Given the description of an element on the screen output the (x, y) to click on. 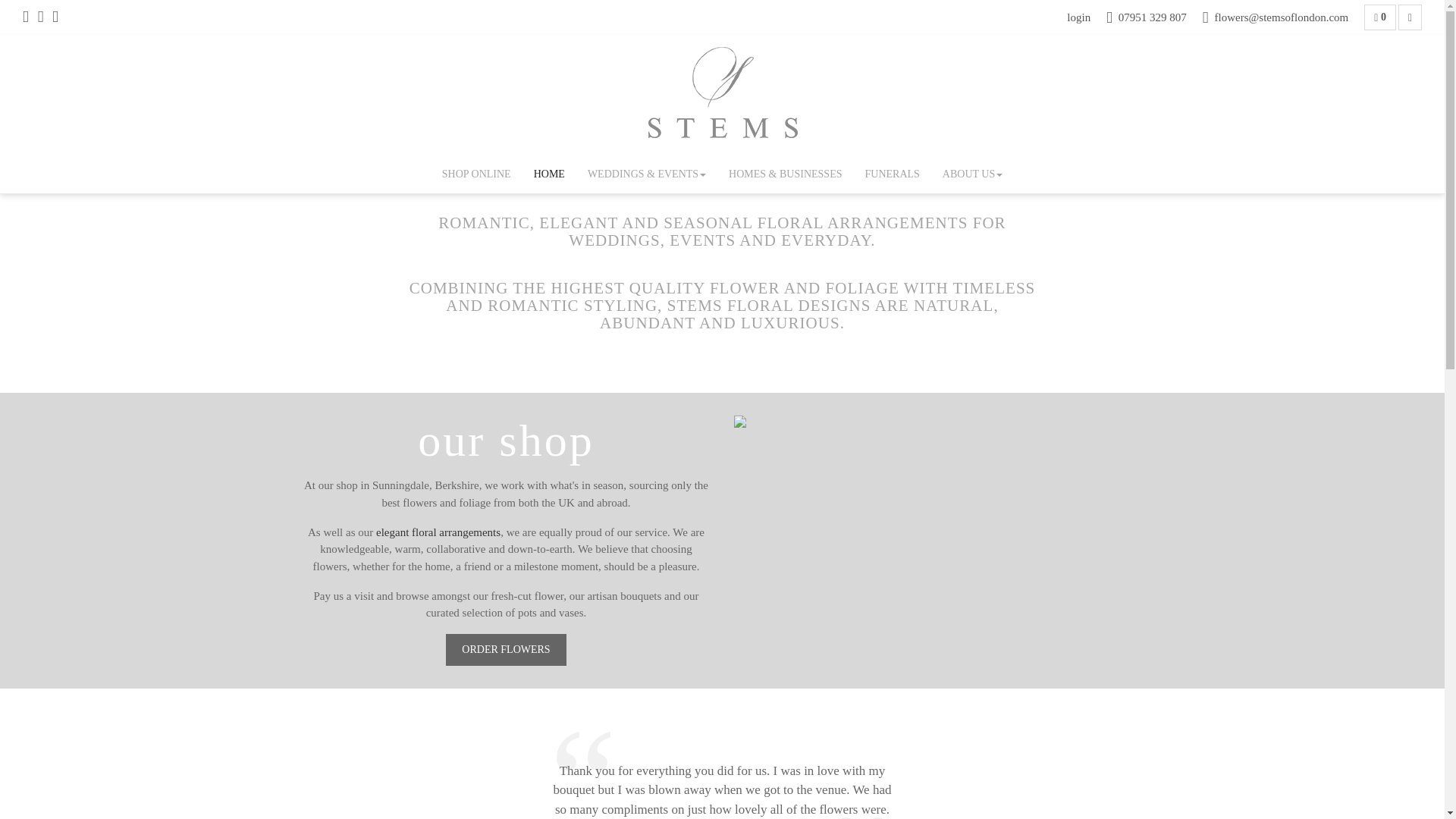
About Us (972, 174)
Home (549, 174)
Funerals (891, 174)
Shop Online (476, 174)
login (1078, 17)
07951 329 807 (1146, 17)
0 (1380, 17)
